Given the description of an element on the screen output the (x, y) to click on. 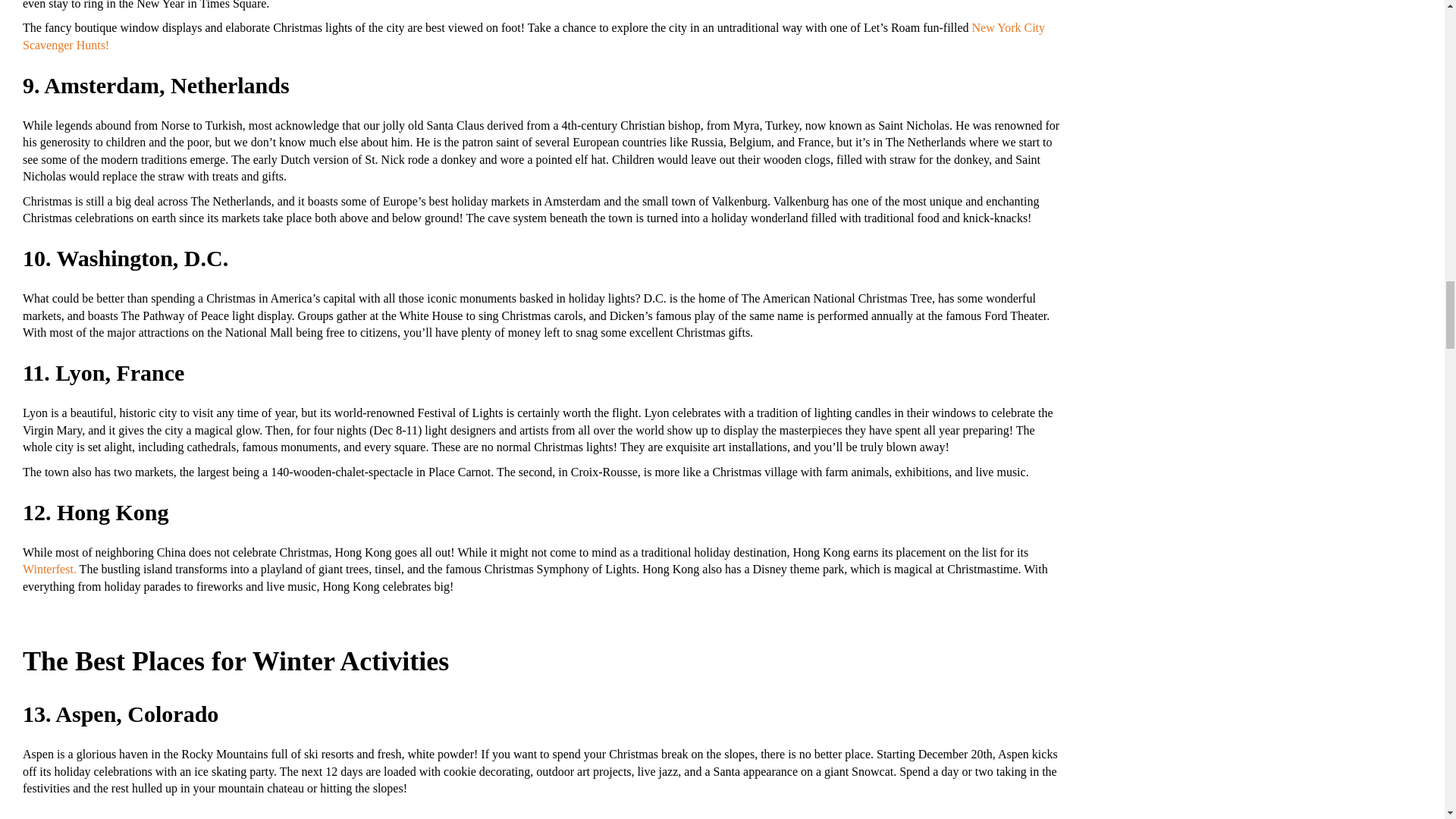
Winterfest. (50, 568)
New York City Scavenger Hunts! (534, 35)
